Given the description of an element on the screen output the (x, y) to click on. 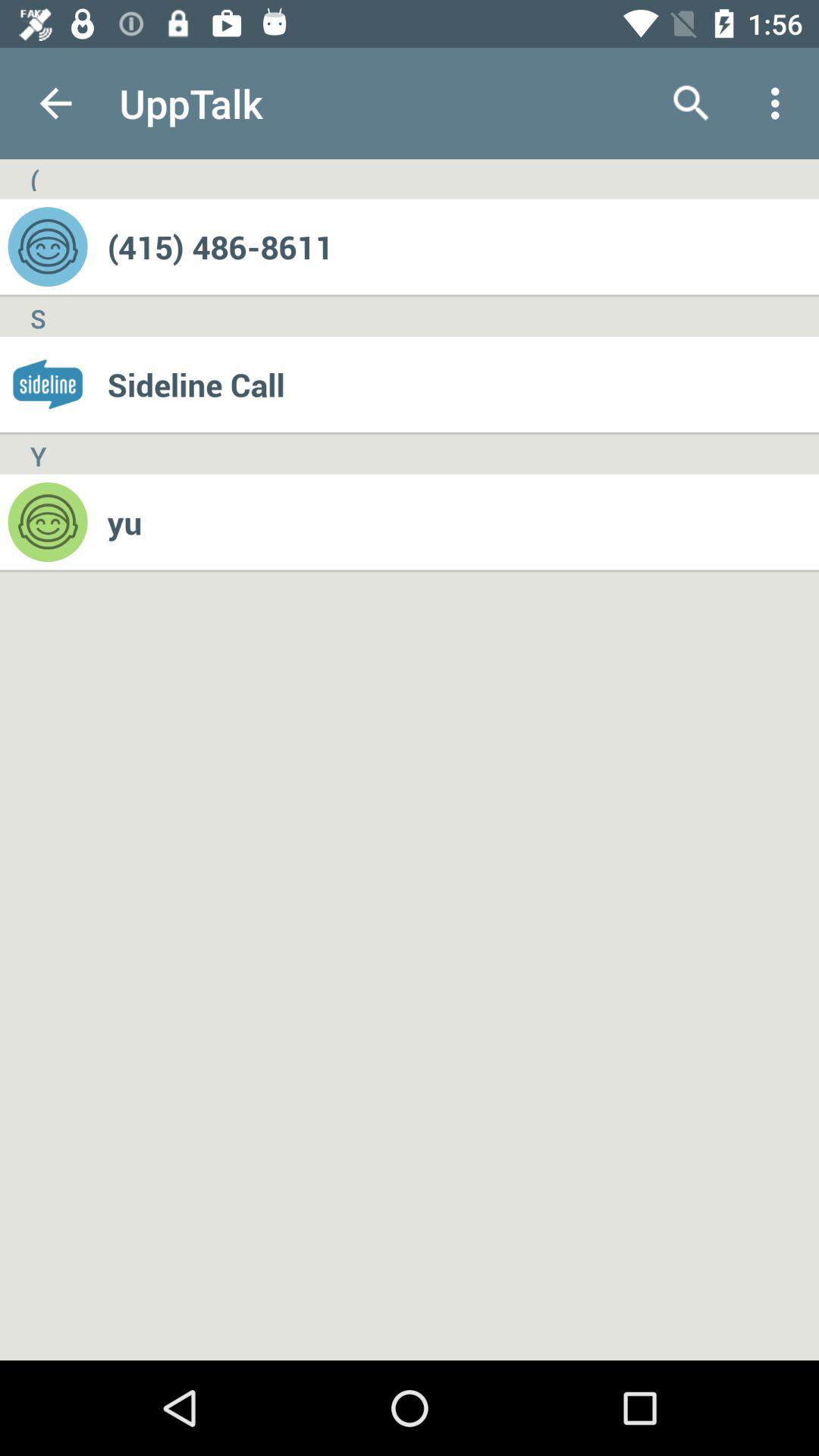
press y icon (38, 454)
